Given the description of an element on the screen output the (x, y) to click on. 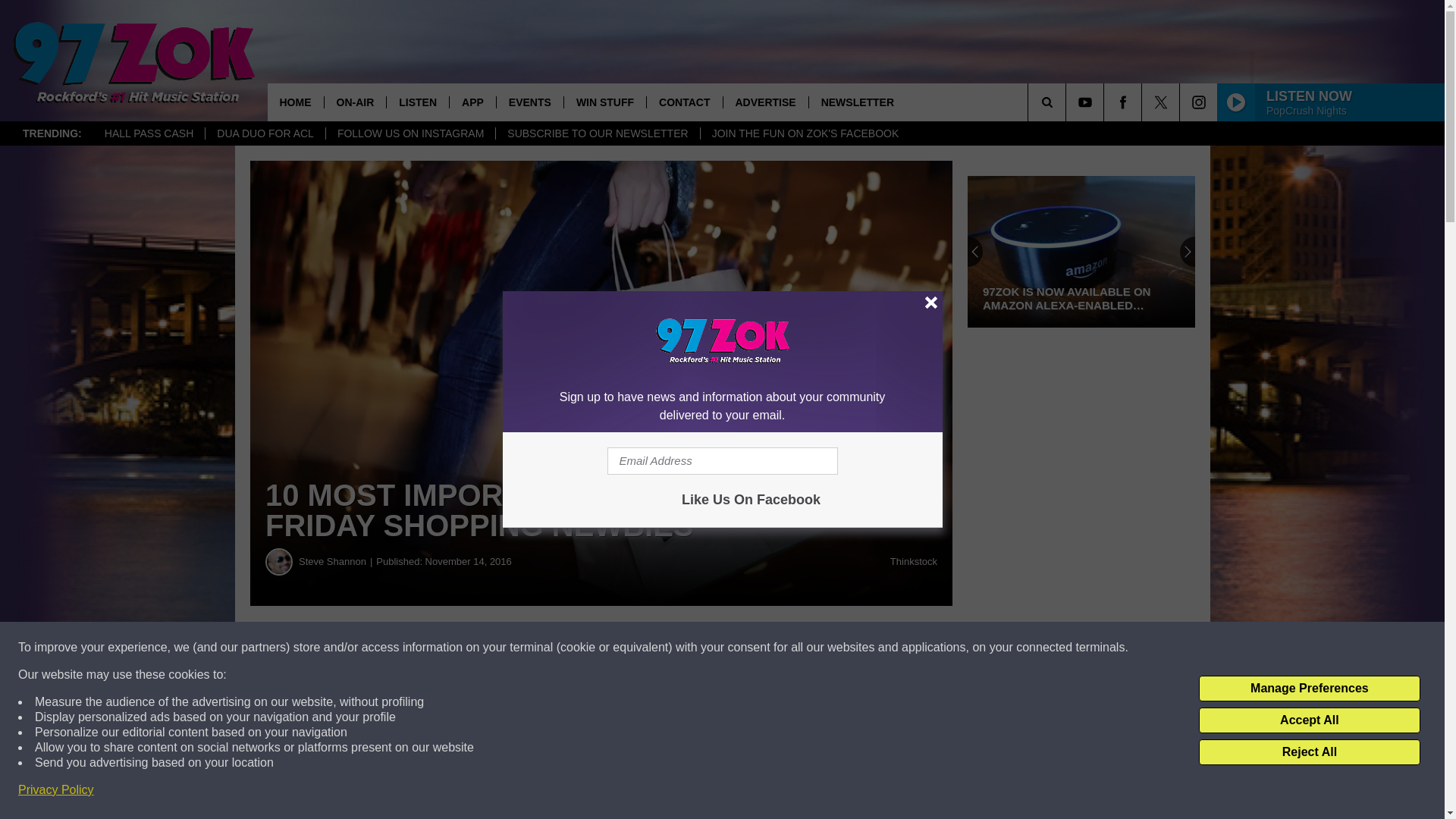
WIN STUFF (604, 102)
SUBSCRIBE TO OUR NEWSLETTER (596, 133)
LISTEN (416, 102)
Accept All (1309, 720)
Privacy Policy (55, 789)
EVENTS (529, 102)
TRENDING: (52, 133)
Share on Facebook (460, 647)
FOLLOW US ON INSTAGRAM (409, 133)
HOME (294, 102)
ON-AIR (354, 102)
SEARCH (1068, 102)
SEARCH (1068, 102)
APP (472, 102)
CONTACT (684, 102)
